Given the description of an element on the screen output the (x, y) to click on. 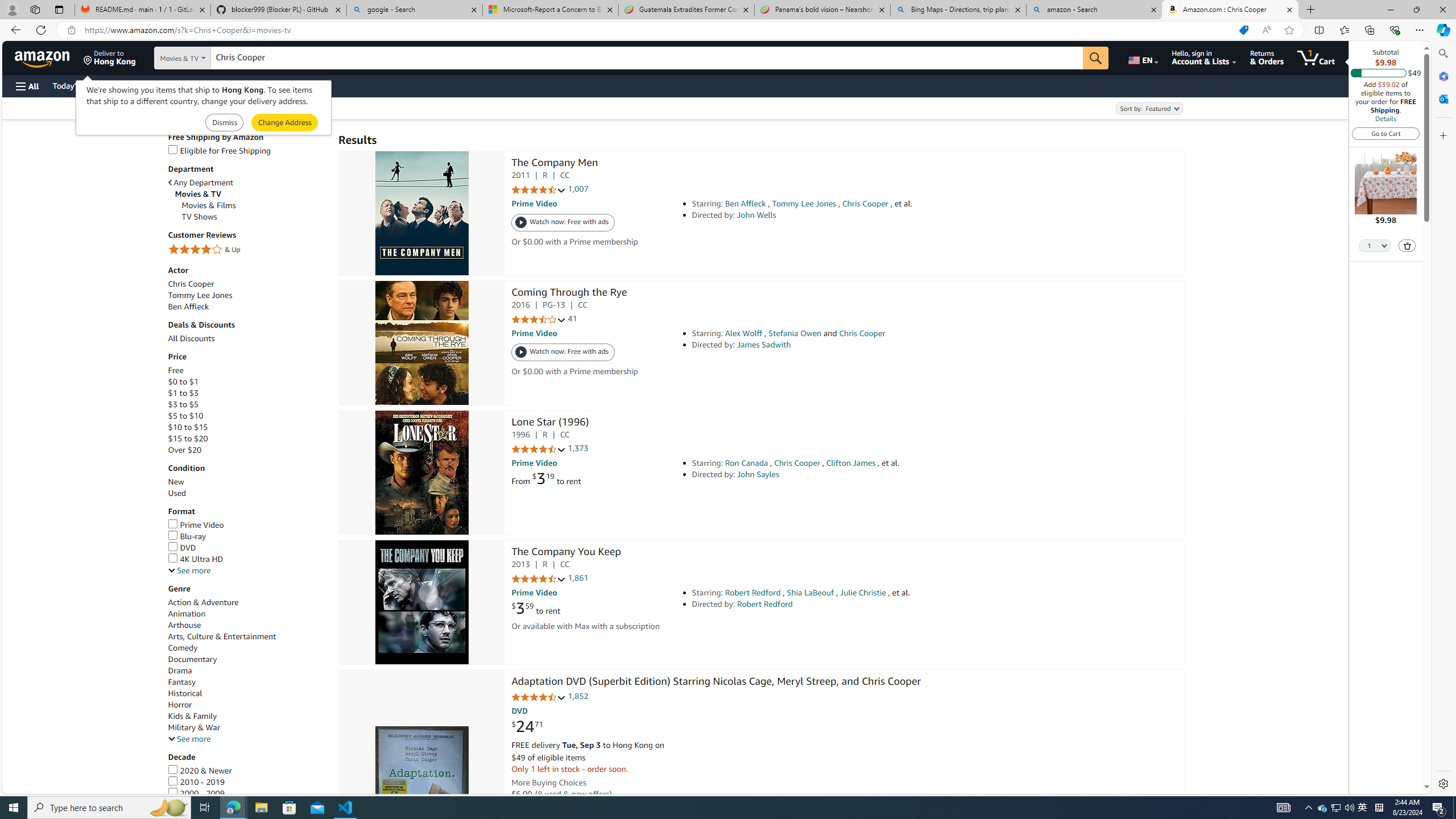
Details (1385, 118)
Amazon.com : Chris Cooper (1230, 9)
Drama (247, 670)
Kids & Family (191, 715)
Comedy (247, 647)
Documentary (191, 659)
1,852 (577, 696)
$15 to $20 (187, 438)
2000 - 2009 (247, 793)
John Wells (756, 214)
(8 used & new offers) (572, 793)
Historical (247, 693)
Eligible for Free Shipping (247, 150)
